Given the description of an element on the screen output the (x, y) to click on. 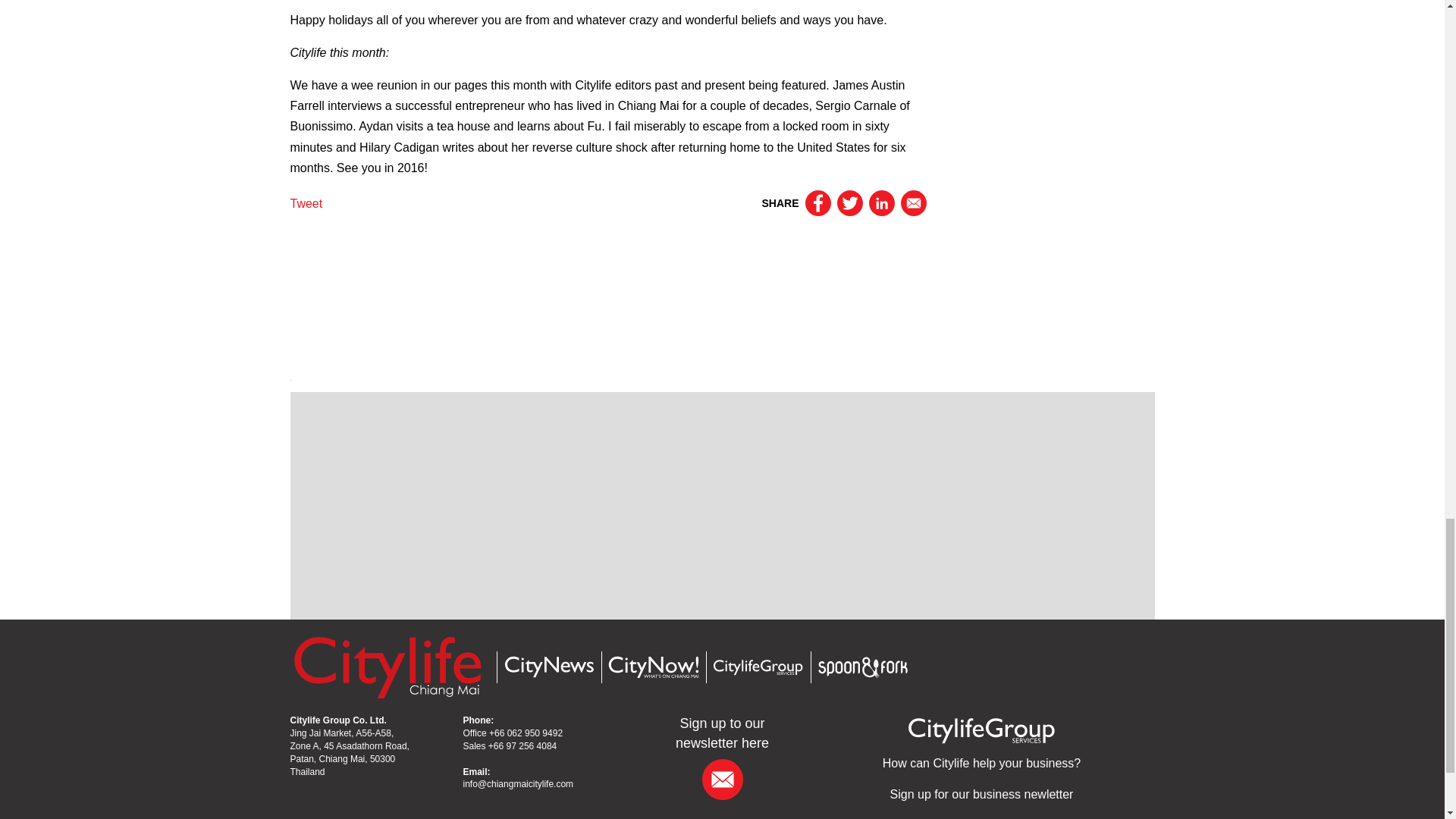
Citylife Group Services (981, 762)
Chiang Mai Citylife (386, 666)
Sign up for our business newletter (981, 793)
How can Citylife help your business? (981, 762)
CityNews (548, 666)
Sign up to our newsletter here (721, 732)
Tweet (305, 203)
CityNow - What's on Chiang Mai (652, 667)
Citylife Group Services (981, 729)
Citylife Group Services (757, 666)
